Given the description of an element on the screen output the (x, y) to click on. 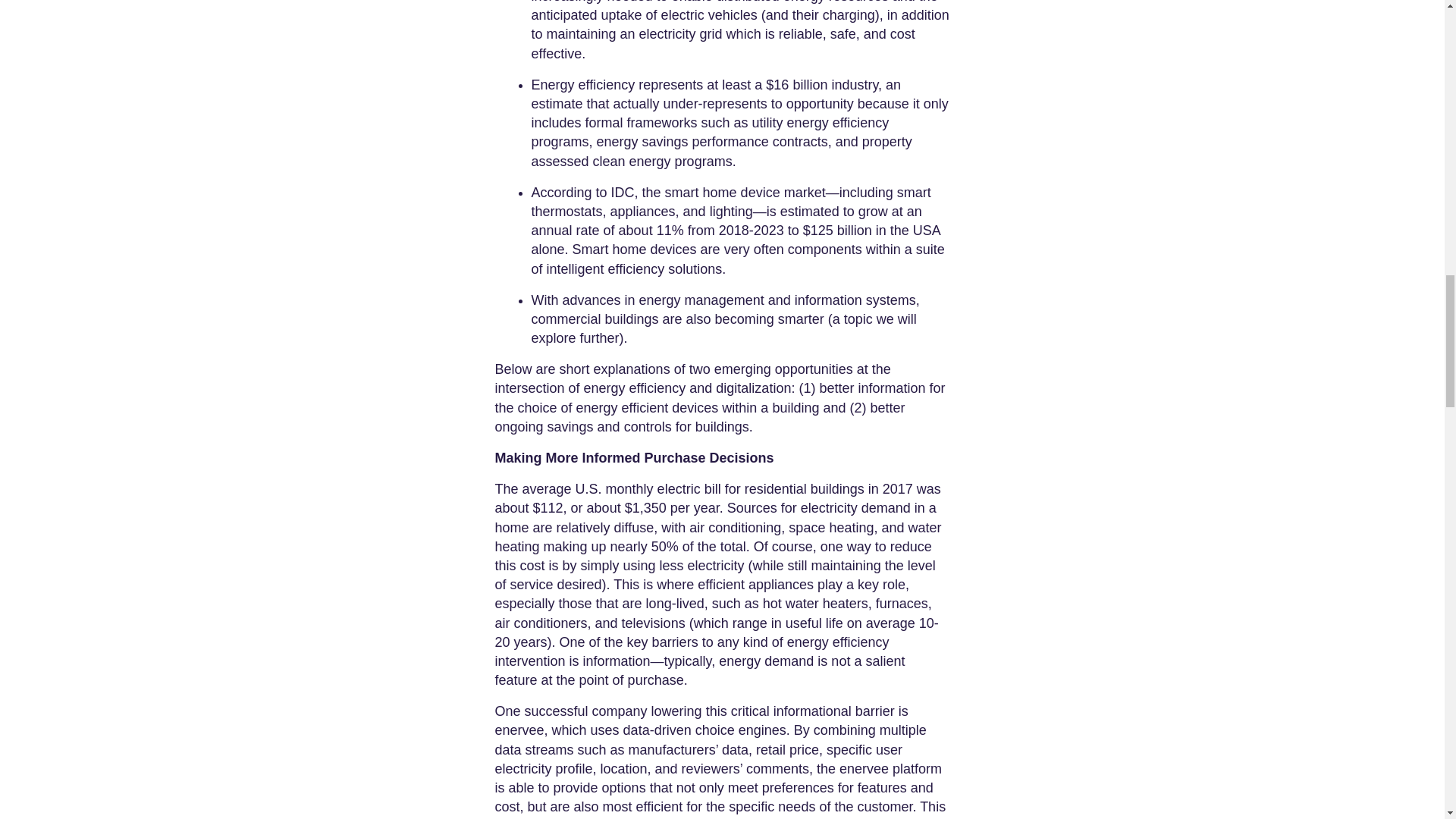
average 10-20 years (716, 632)
choice engines (738, 729)
enervee (519, 729)
property assessed clean energy programs. (721, 151)
IDC (620, 192)
average U.S. monthly electric bill (619, 488)
energy savings performance contracts (710, 141)
